Given the description of an element on the screen output the (x, y) to click on. 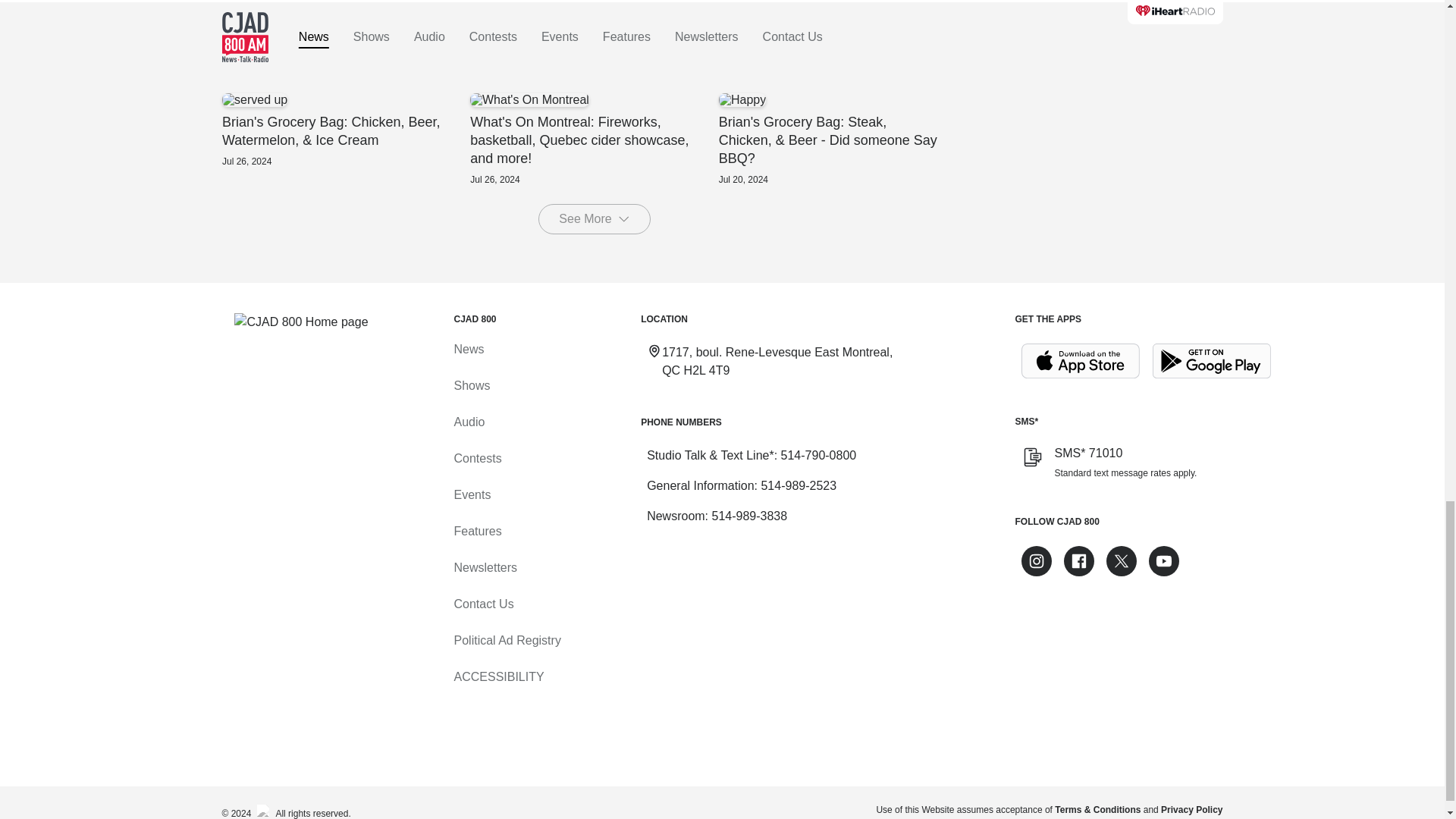
514-989-3838 (749, 515)
Contact Us (482, 603)
Newsletters (484, 567)
Download on the App Store (1080, 361)
514-790-0800 (818, 454)
514-989-2523 (797, 485)
Accessibility (497, 676)
News (467, 349)
Privacy Policy (1191, 809)
Contests (476, 458)
See More (593, 218)
Events (471, 494)
